Given the description of an element on the screen output the (x, y) to click on. 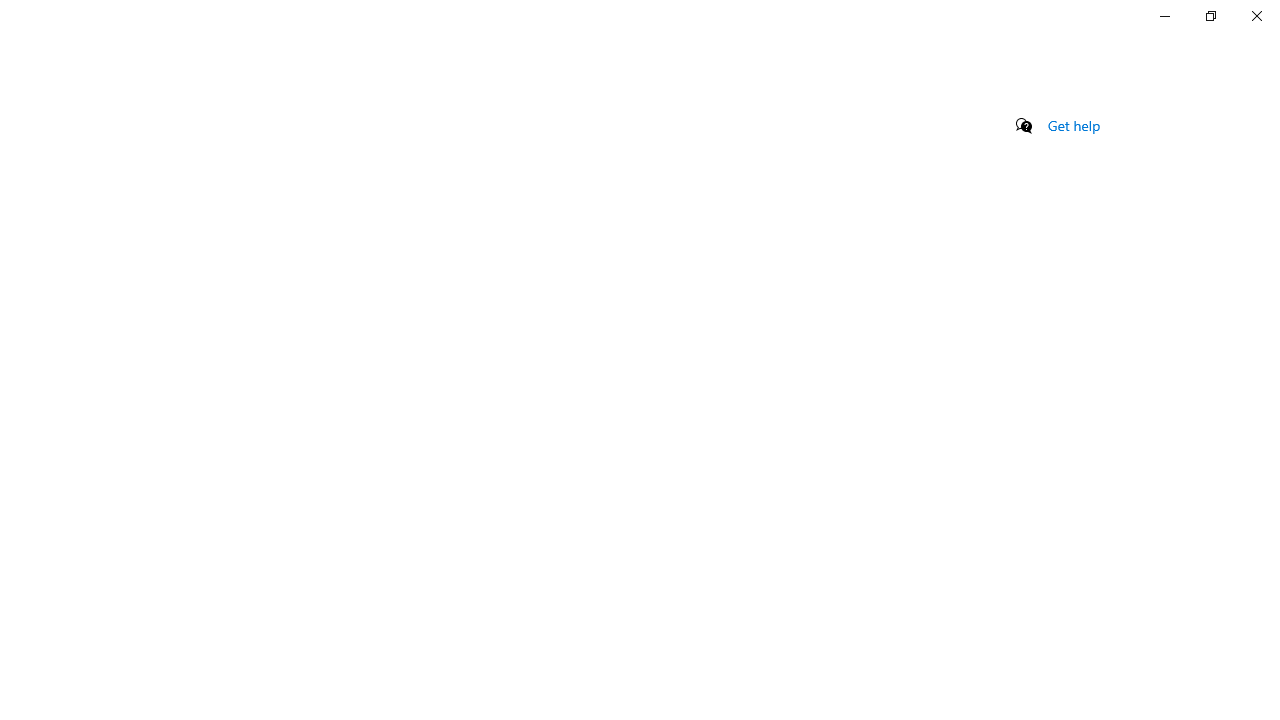
Minimize Settings (1164, 15)
Get help (1074, 125)
Restore Settings (1210, 15)
Close Settings (1256, 15)
